Given the description of an element on the screen output the (x, y) to click on. 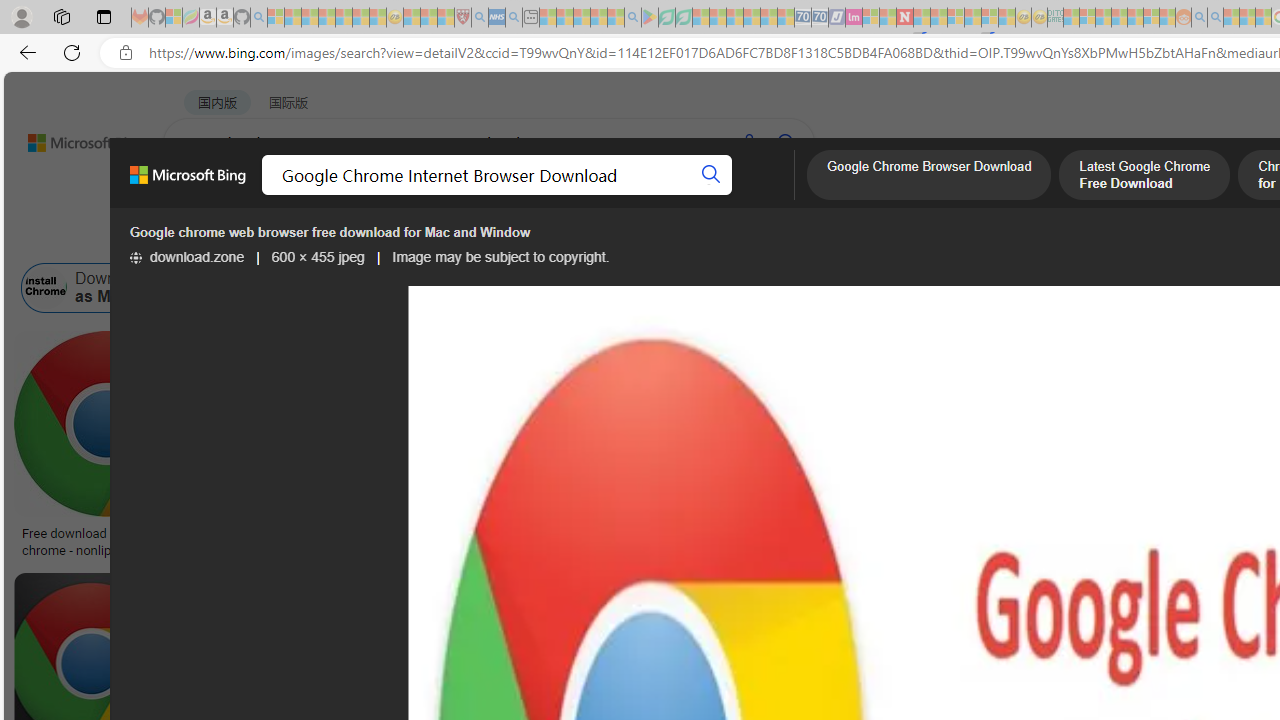
Type (372, 237)
Type (373, 237)
Date (591, 237)
WEB (201, 195)
